Given the description of an element on the screen output the (x, y) to click on. 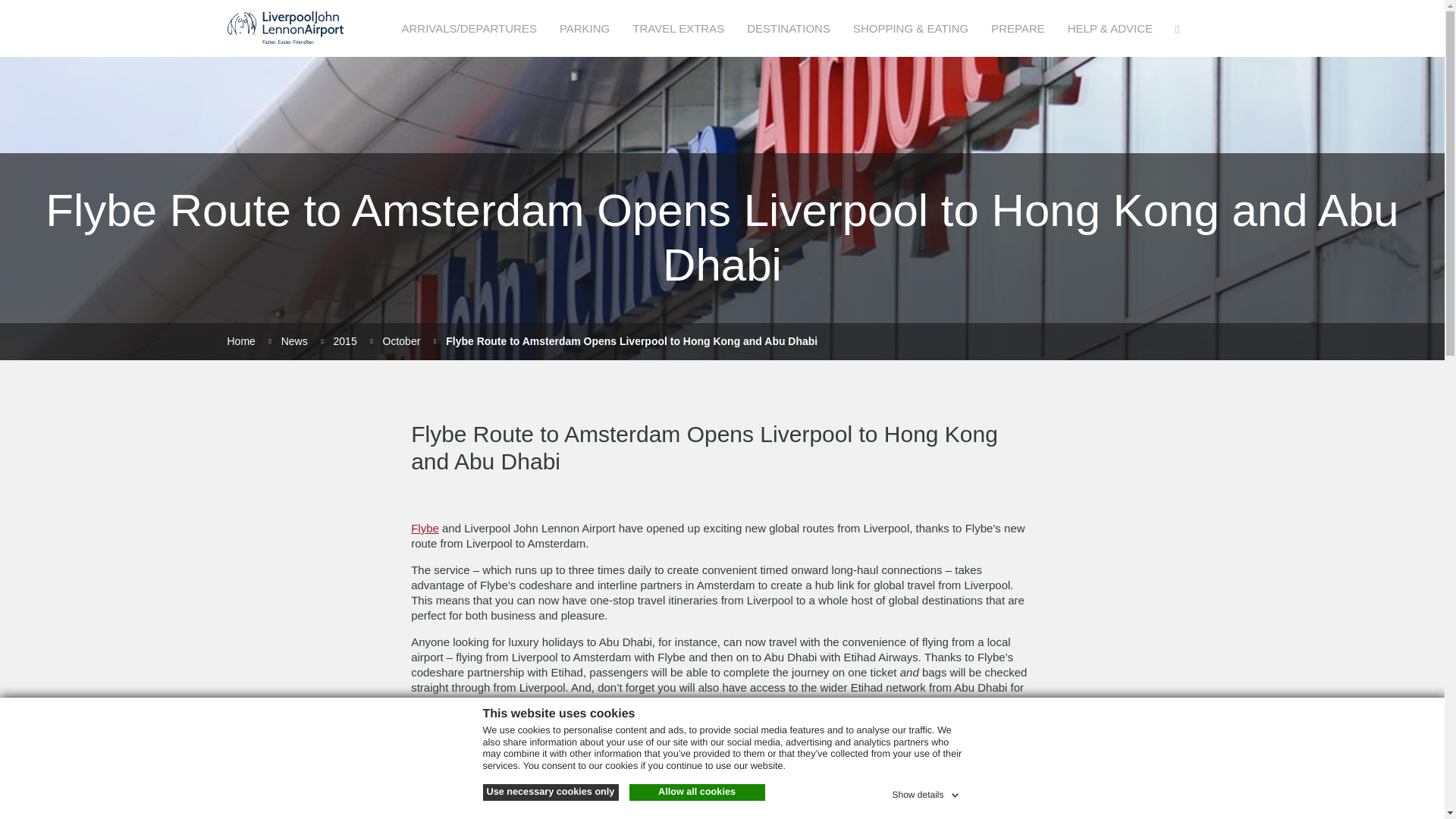
Show details (925, 791)
Allow all cookies (696, 791)
Use necessary cookies only (549, 791)
